Given the description of an element on the screen output the (x, y) to click on. 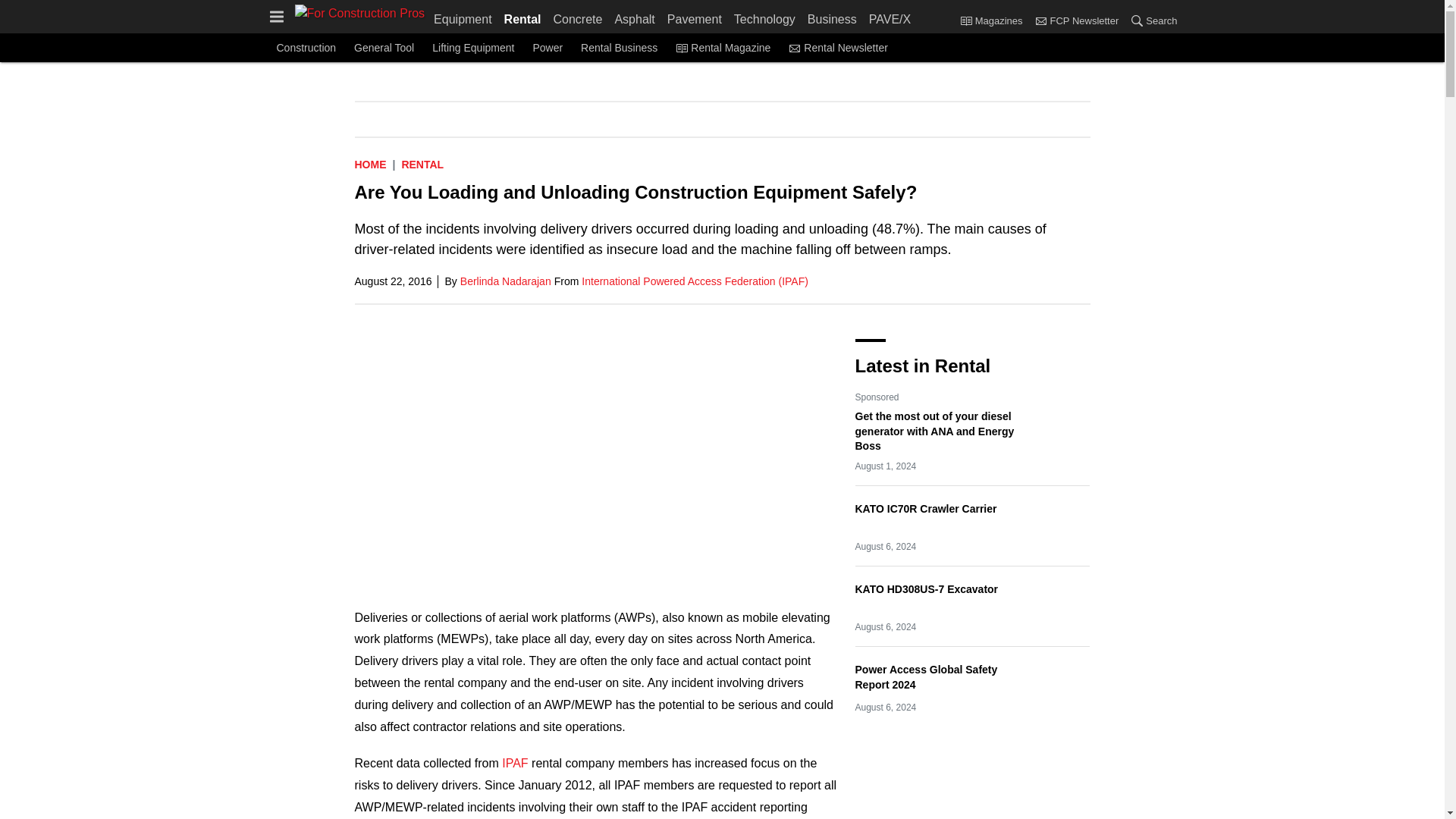
Lifting Equipment (472, 47)
Sponsored (877, 396)
Rental (522, 16)
Rental Magazine (722, 47)
Search (1150, 21)
FCP Newsletter (1039, 20)
Rental Business (619, 47)
Magazines (965, 20)
Pavement (694, 16)
Rental (422, 164)
